Given the description of an element on the screen output the (x, y) to click on. 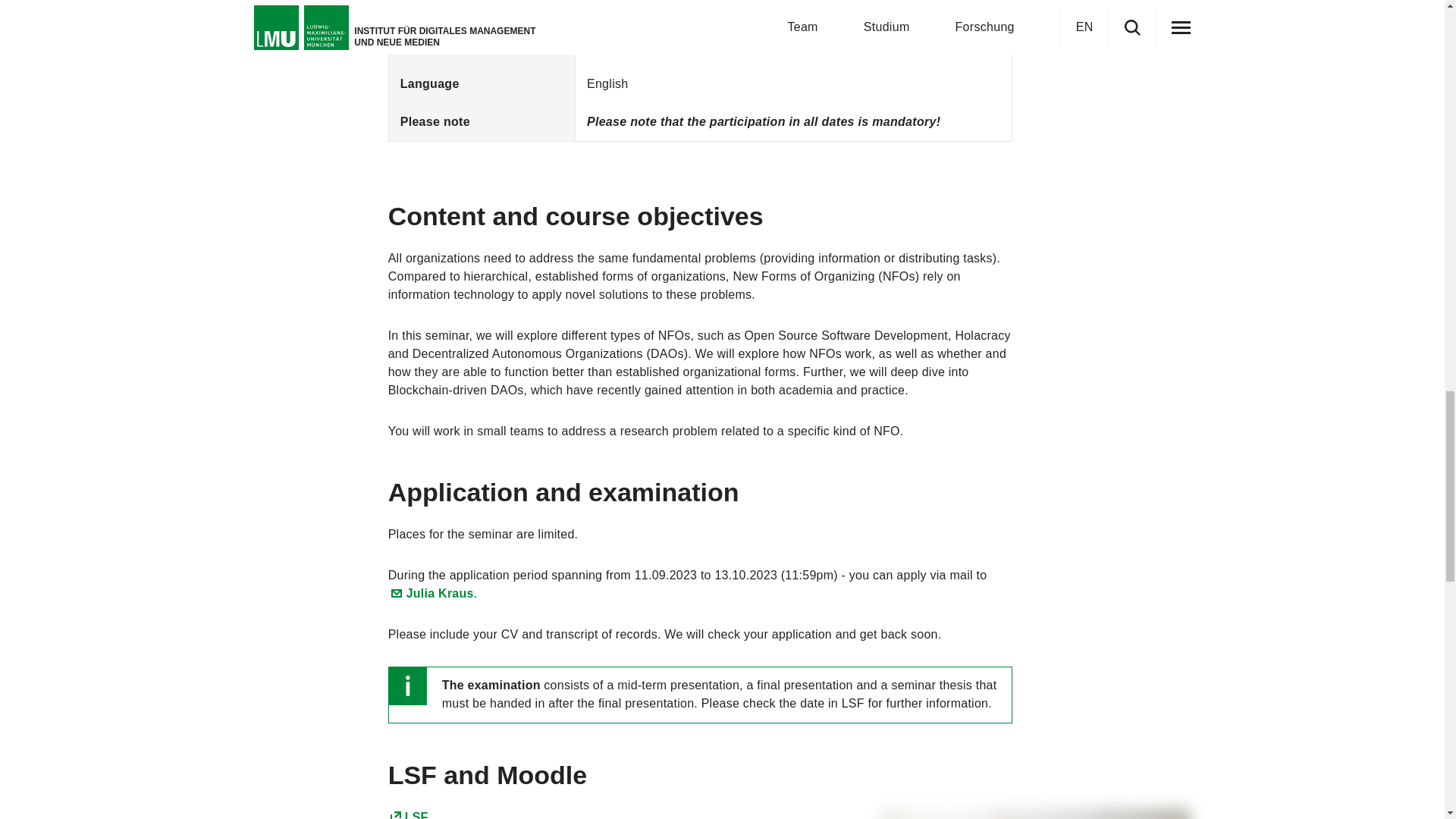
Julia Kraus (431, 593)
LSF (408, 814)
